Given the description of an element on the screen output the (x, y) to click on. 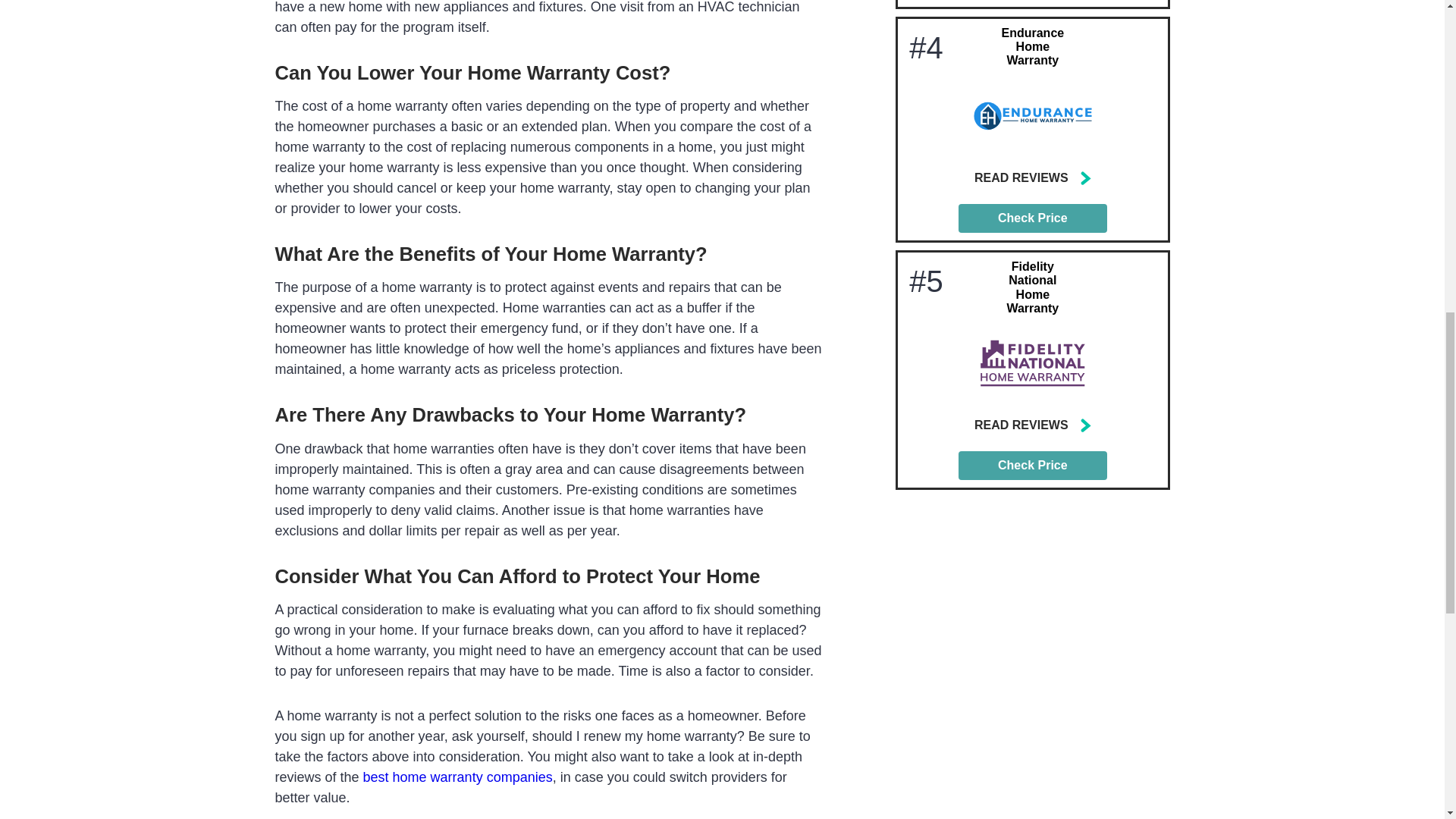
Check Price (1032, 217)
READ REVIEWS (1032, 425)
READ REVIEWS (1032, 177)
best home warranty companies (457, 776)
Check Price (1032, 465)
Endurance Home Warranty (1032, 46)
Fidelity National Home Warranty (1032, 287)
